Given the description of an element on the screen output the (x, y) to click on. 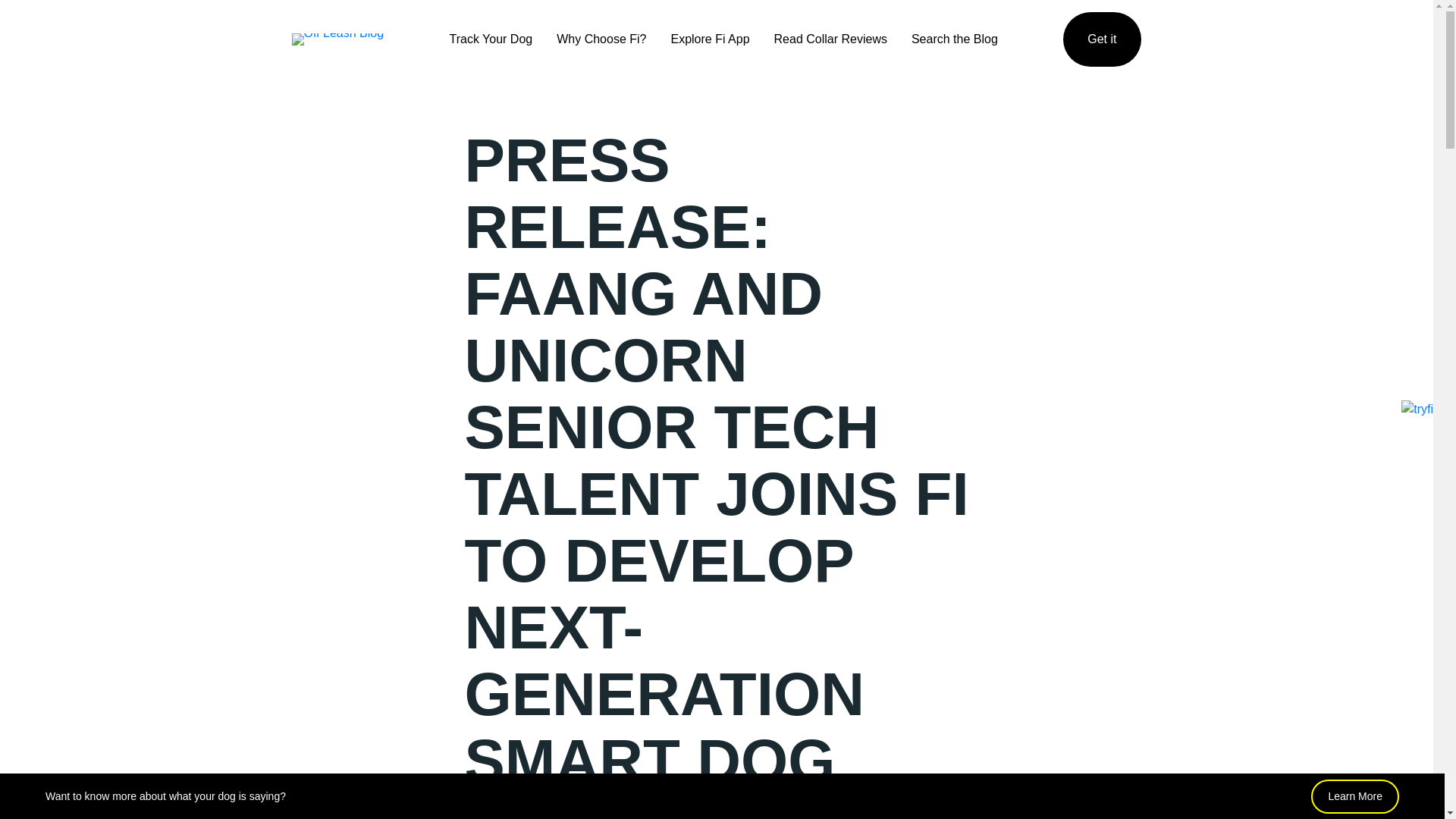
Explore Fi App (709, 39)
Why Choose Fi? (601, 39)
Search the Blog (954, 39)
Get it (1101, 39)
Read Collar Reviews (830, 39)
Track Your Dog (490, 39)
